Given the description of an element on the screen output the (x, y) to click on. 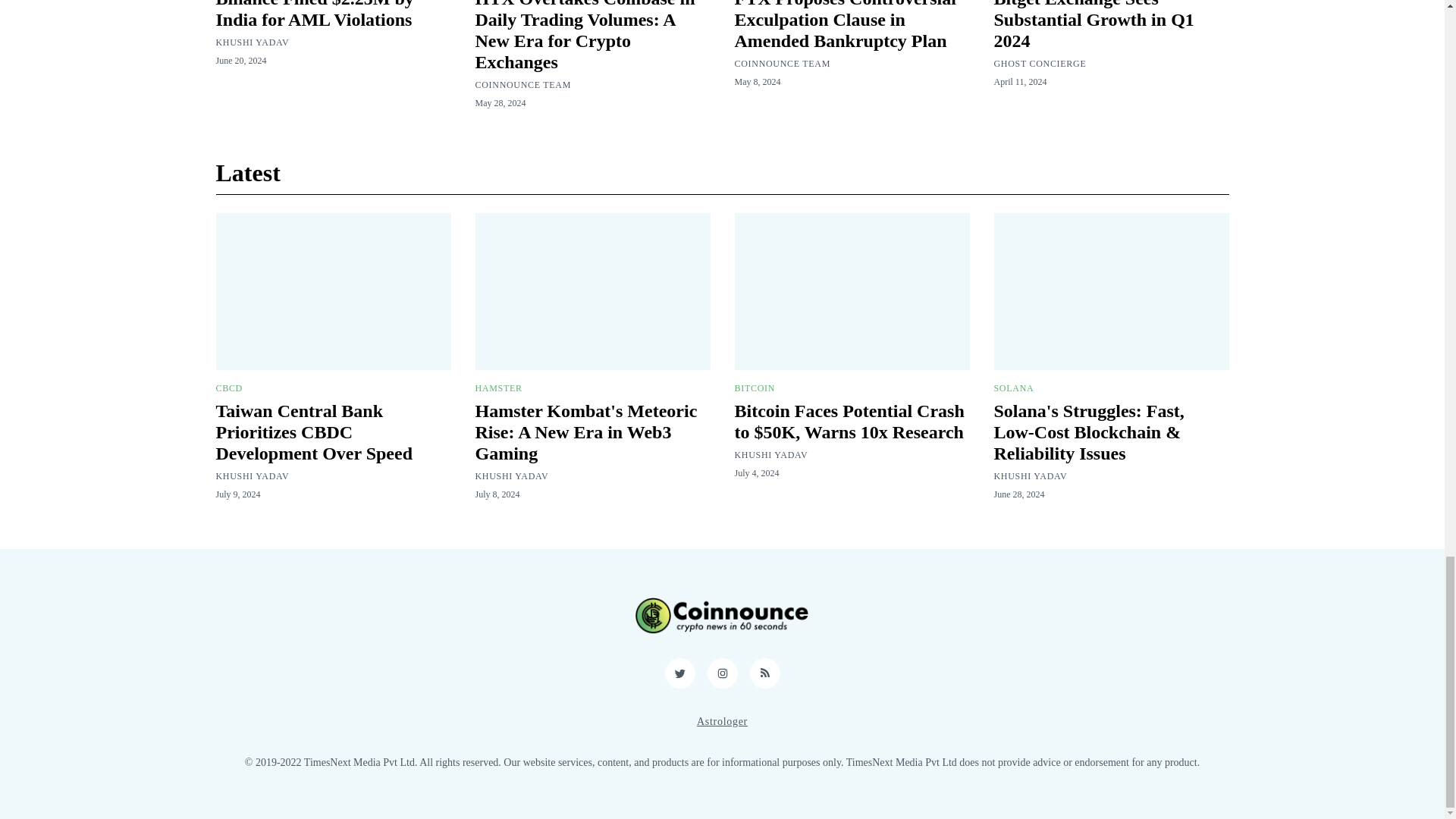
COINNOUNCE TEAM (522, 84)
KHUSHI YADAV (251, 42)
COINNOUNCE TEAM (781, 63)
